Given the description of an element on the screen output the (x, y) to click on. 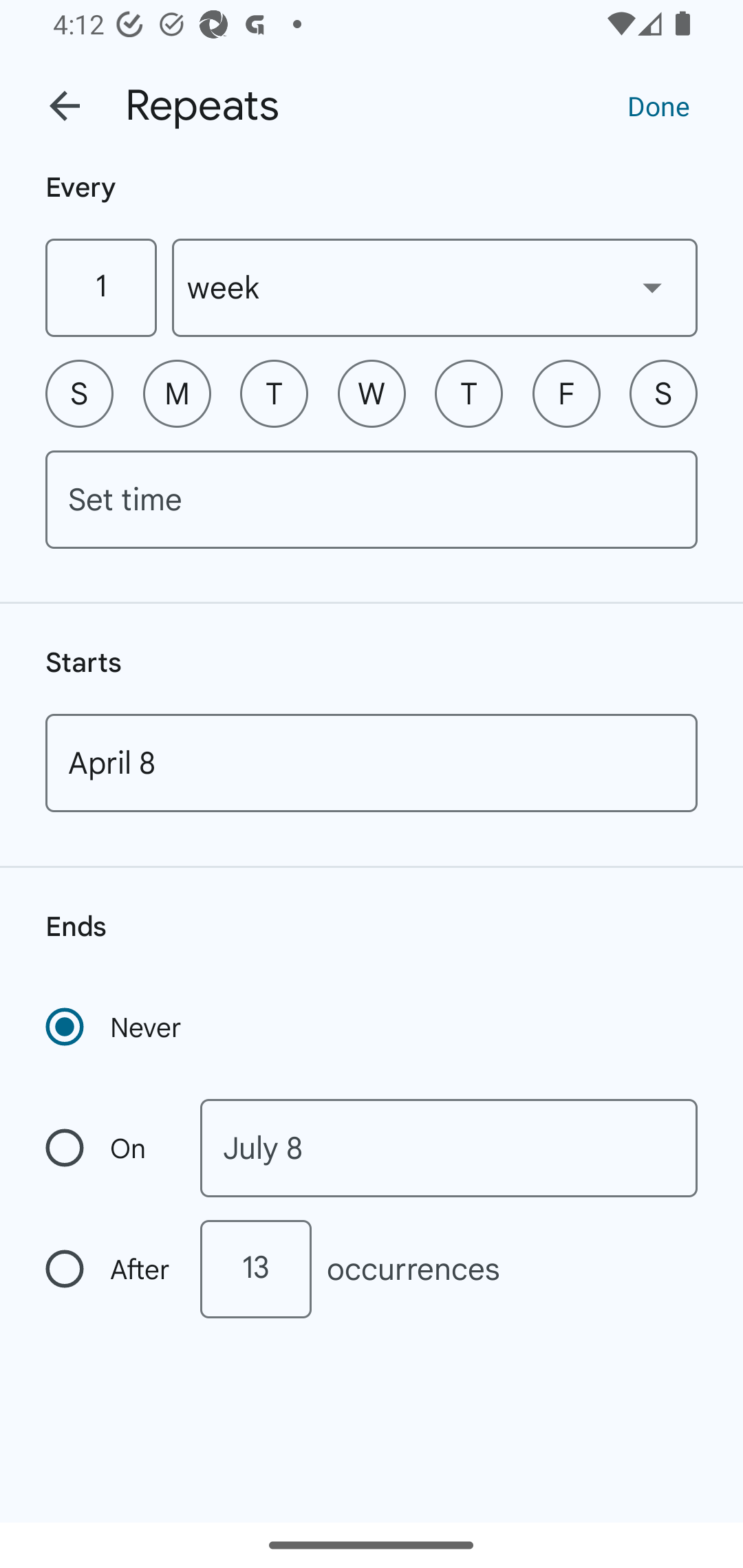
Back (64, 105)
Done (658, 105)
1 (100, 287)
week (434, 287)
Show dropdown menu (652, 286)
S Sunday (79, 393)
M Monday (177, 393)
T Tuesday (273, 393)
W Wednesday (371, 393)
T Thursday (468, 393)
F Friday (566, 393)
S Saturday (663, 393)
Set time (371, 499)
April 8 (371, 762)
Never Recurrence never ends (115, 1026)
July 8 (448, 1148)
On Recurrence ends on a specific date (109, 1148)
13 (255, 1268)
